Given the description of an element on the screen output the (x, y) to click on. 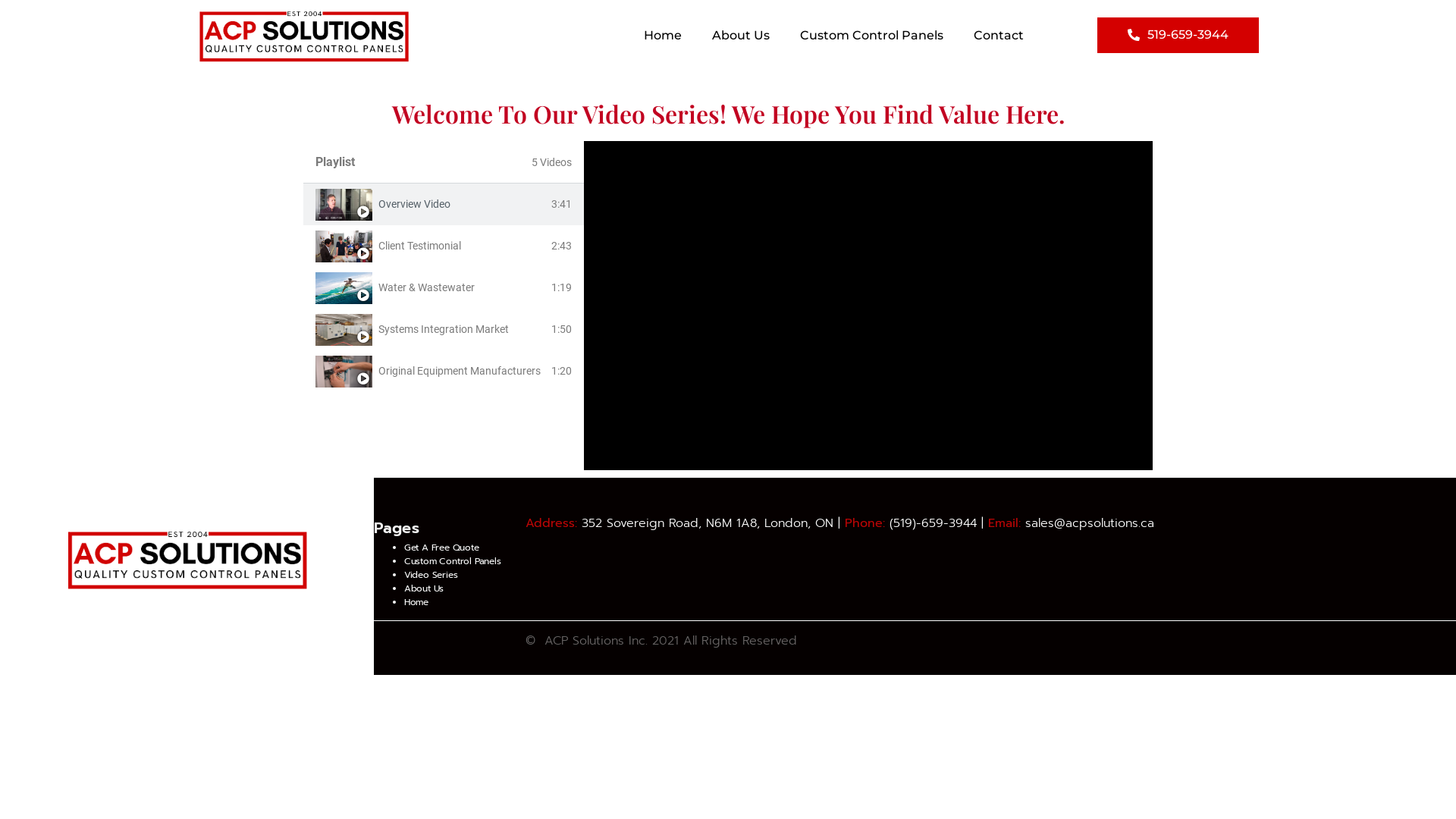
Systems Integration Market Element type: text (443, 329)
Home Element type: text (662, 35)
About Us Element type: text (740, 35)
Get A Free Quote Element type: text (441, 547)
Original Equipment Manufacturers Element type: text (459, 370)
Custom Control Panels Element type: text (871, 35)
Custom Control Panels Element type: text (452, 560)
519-659-3944 Element type: text (1177, 35)
About Us Element type: text (423, 588)
Client Testimonial Element type: text (419, 245)
Overview Video Element type: text (414, 203)
Water & Wastewater Element type: text (426, 287)
Video Series Element type: text (431, 574)
Contact Element type: text (998, 35)
Home Element type: text (416, 601)
